Given the description of an element on the screen output the (x, y) to click on. 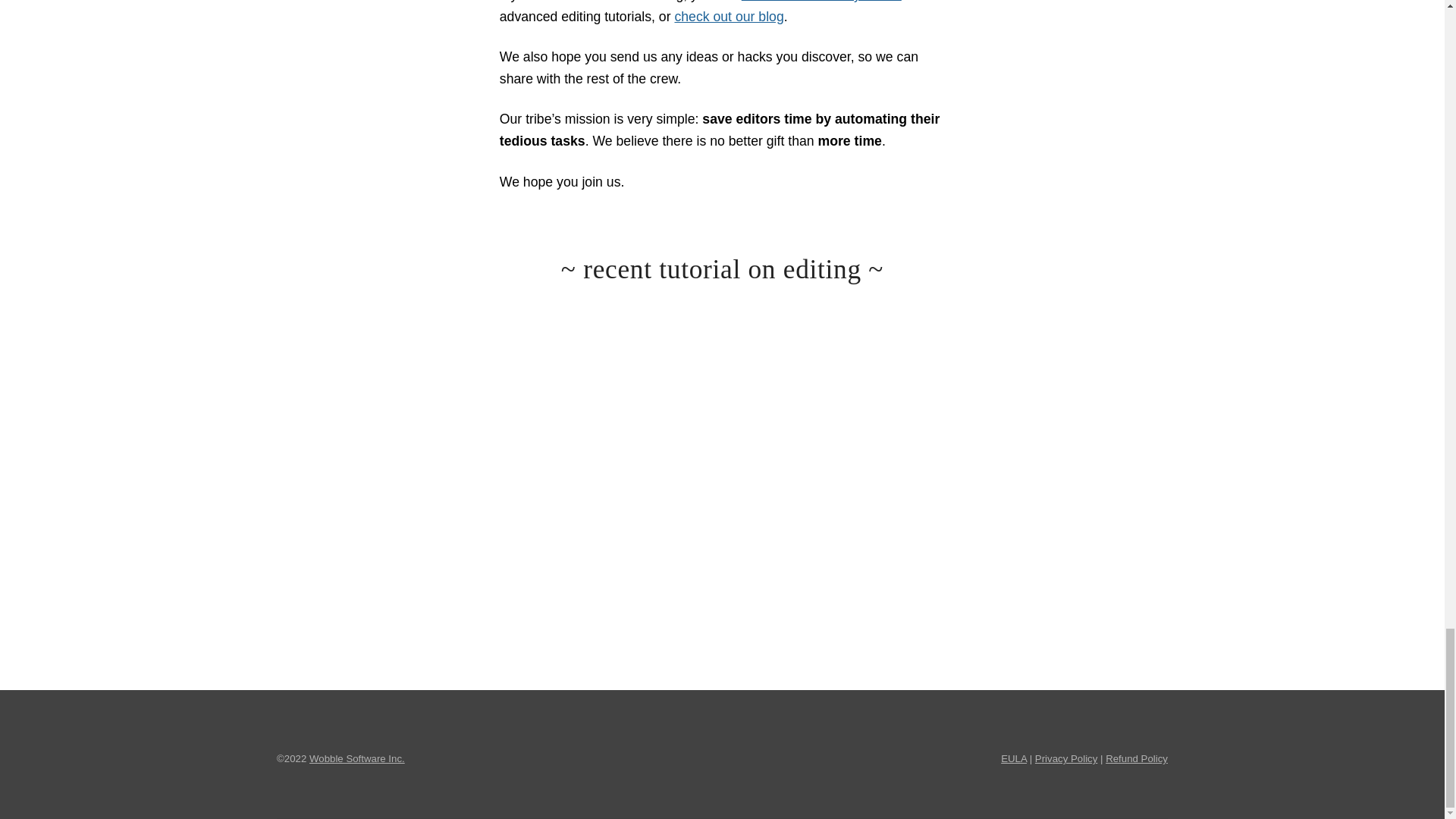
EULA (1013, 758)
Wobble Software Inc. (356, 758)
check out our blog (728, 16)
Refund Policy (1136, 758)
subscribe to us on youtube (821, 1)
Privacy Policy (1066, 758)
9 Rules for Shot Composition (721, 426)
